Given the description of an element on the screen output the (x, y) to click on. 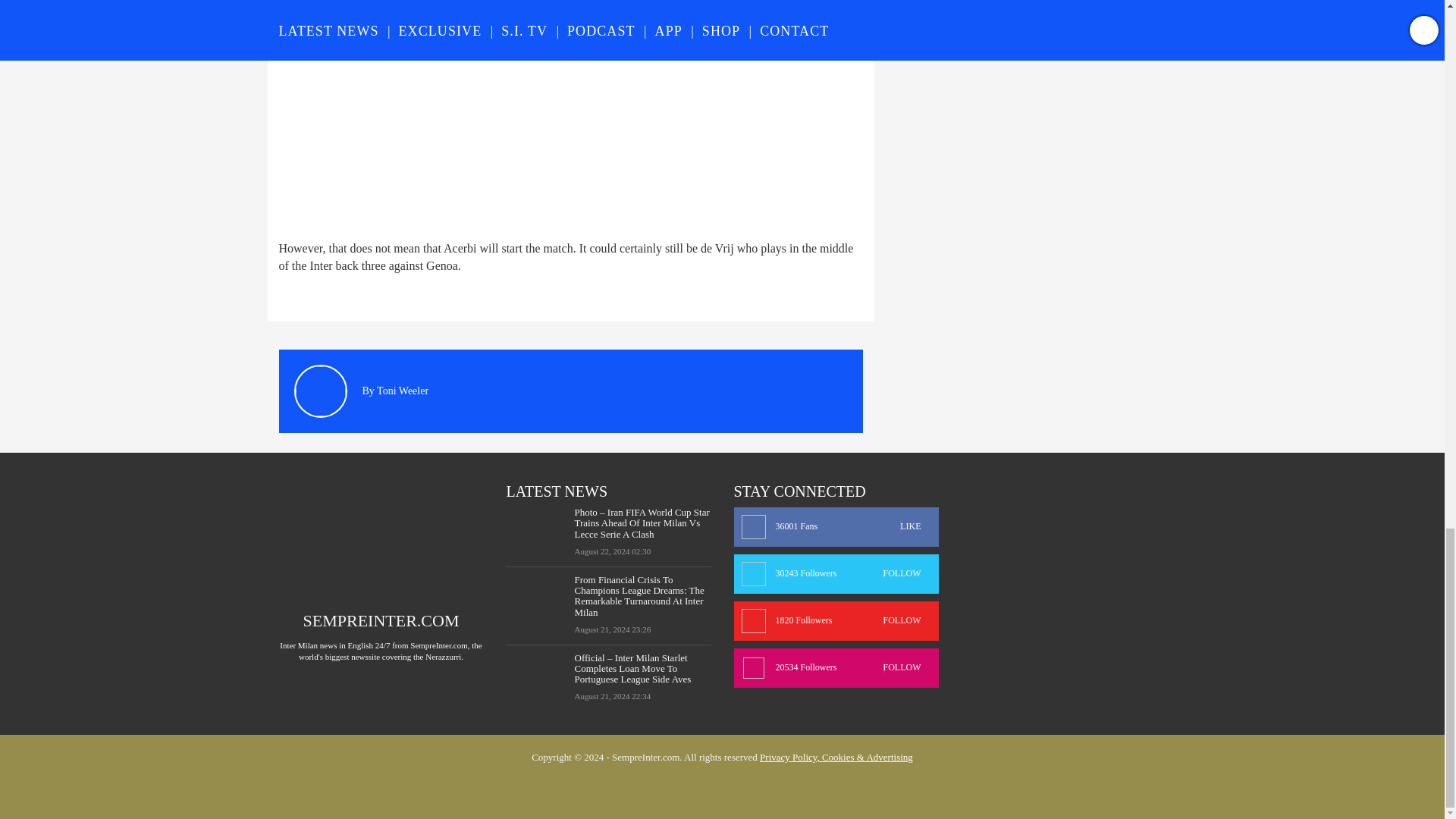
Toni Weeler (402, 390)
SEMPREINTER.COM (381, 619)
View more articles by Toni Weeler (402, 390)
YouTube video player (491, 111)
